Given the description of an element on the screen output the (x, y) to click on. 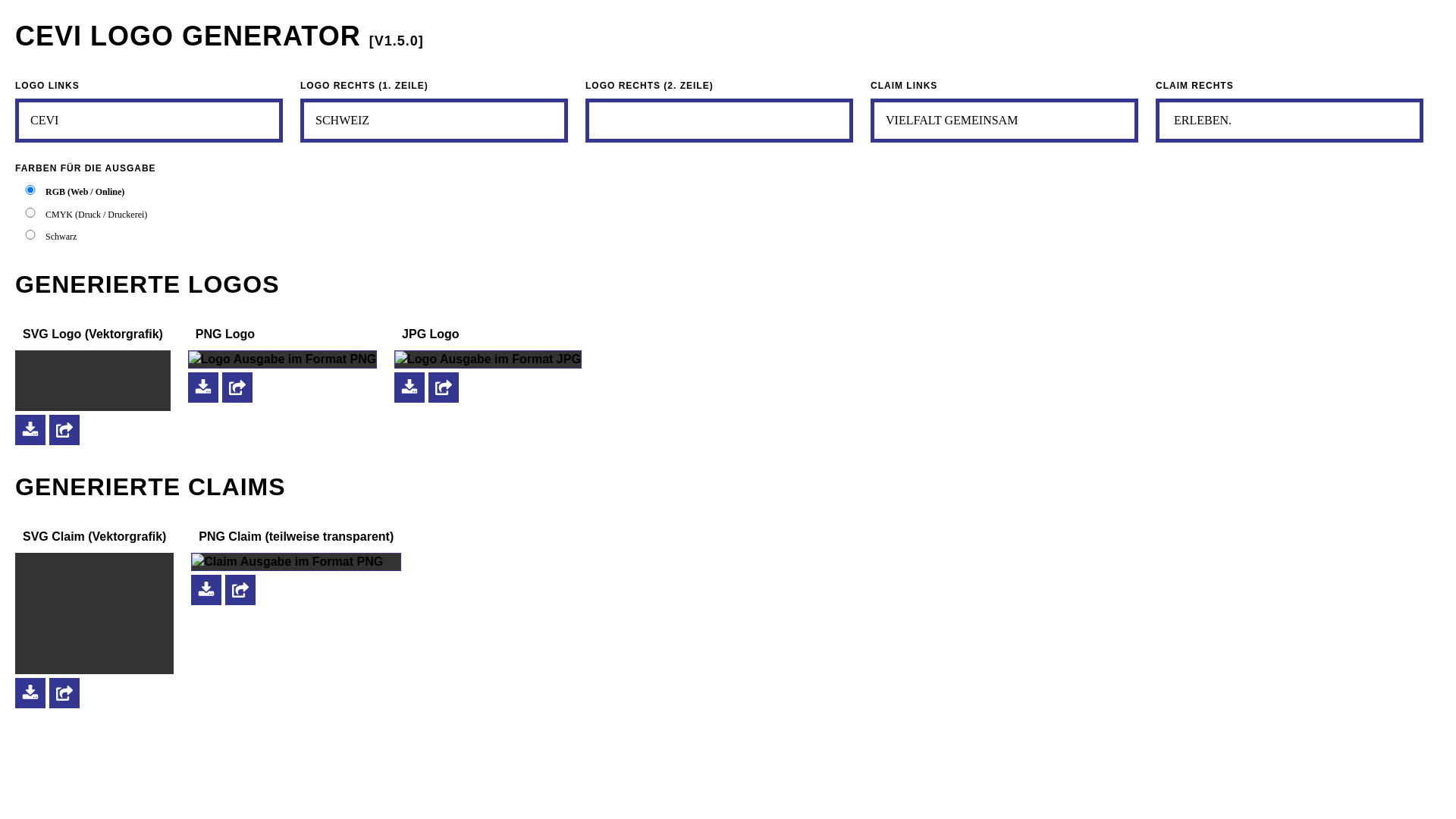
Share PNG Claim Element type: text (240, 589)
Share SVG Claim Element type: text (64, 692)
Download JPG Logo Element type: text (409, 386)
Download SVG Claim Element type: text (30, 692)
Share JPG Logo Element type: text (443, 386)
Download PNG Logo Element type: text (203, 386)
Share PNG Logo Element type: text (237, 386)
Share SVG Logo Element type: text (64, 429)
Download SVG Logo Element type: text (30, 429)
Download PNG Claim Element type: text (206, 589)
